Given the description of an element on the screen output the (x, y) to click on. 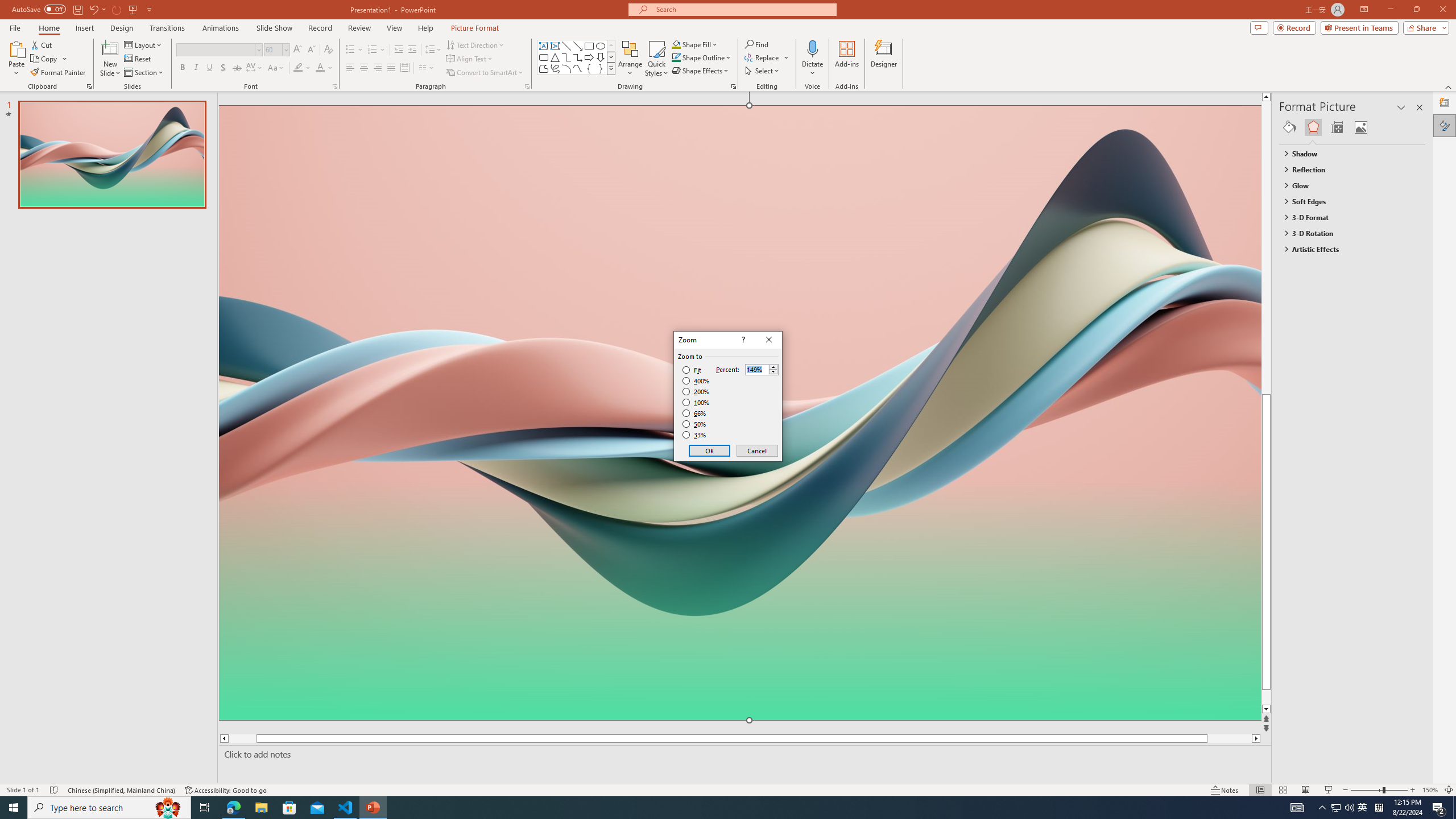
Format Picture (1444, 125)
3-D Rotation (1347, 232)
Shape Effects (700, 69)
